Given the description of an element on the screen output the (x, y) to click on. 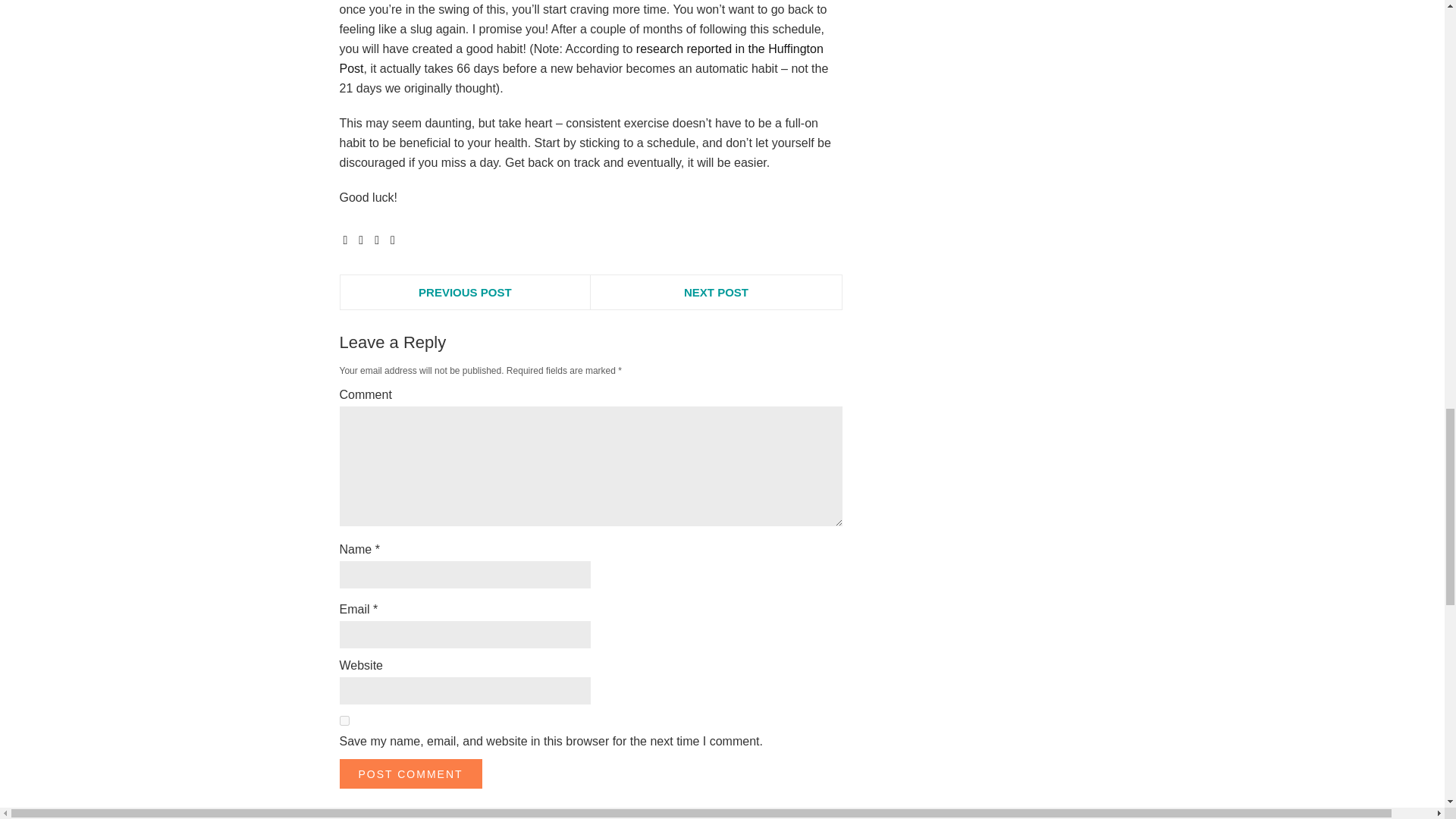
PREVIOUS POST (465, 292)
yes (344, 720)
Post Comment (410, 773)
NEXT POST (716, 292)
research reported in the Huffington Post (581, 58)
Post Comment (410, 773)
